Given the description of an element on the screen output the (x, y) to click on. 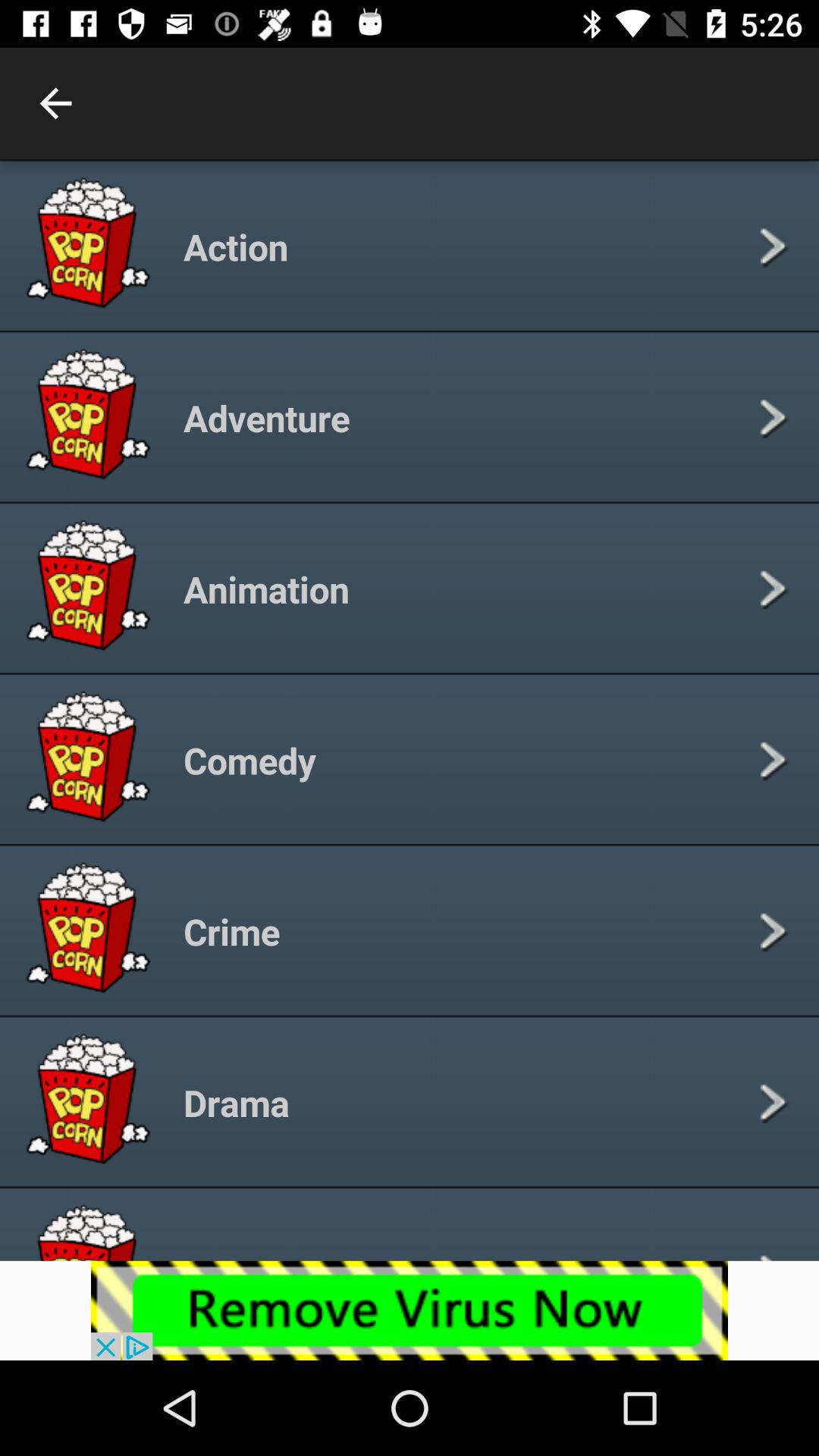
select the add (409, 1310)
